Given the description of an element on the screen output the (x, y) to click on. 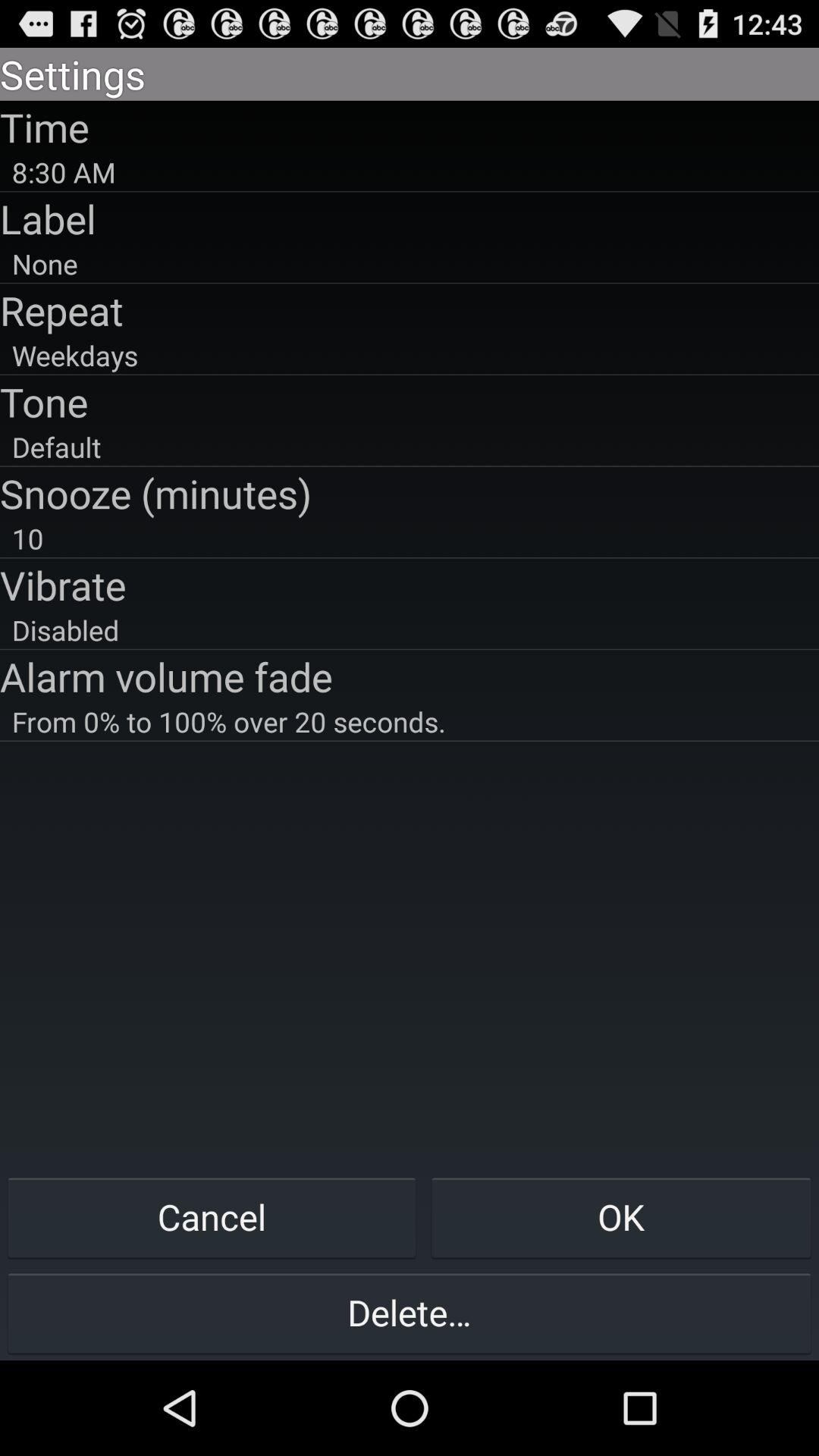
select the button to the left of ok (211, 1216)
